Given the description of an element on the screen output the (x, y) to click on. 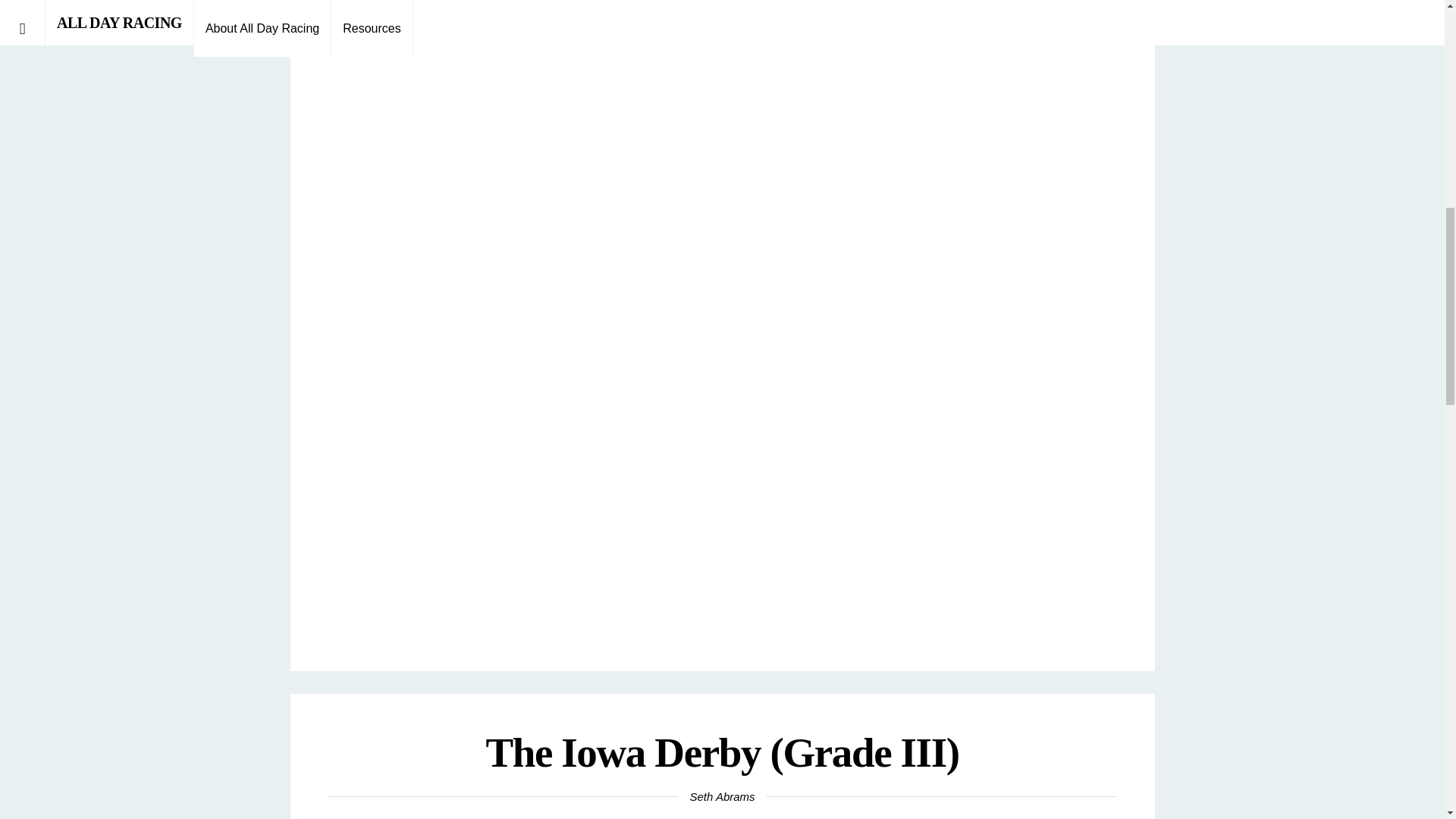
Seth Abrams (721, 11)
Posts by Seth Abrams (721, 11)
Posts by Seth Abrams (721, 796)
Seth Abrams (721, 796)
